Given the description of an element on the screen output the (x, y) to click on. 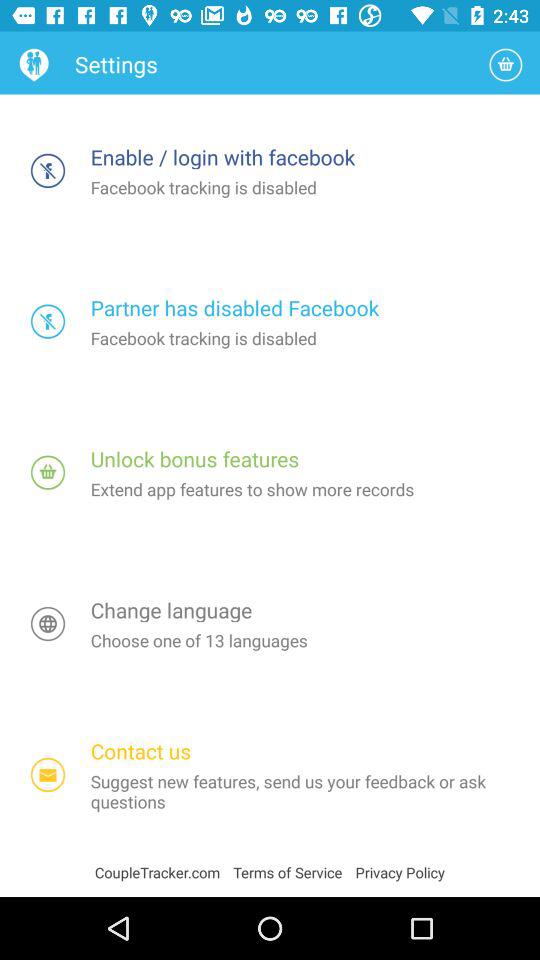
choose language (47, 623)
